Given the description of an element on the screen output the (x, y) to click on. 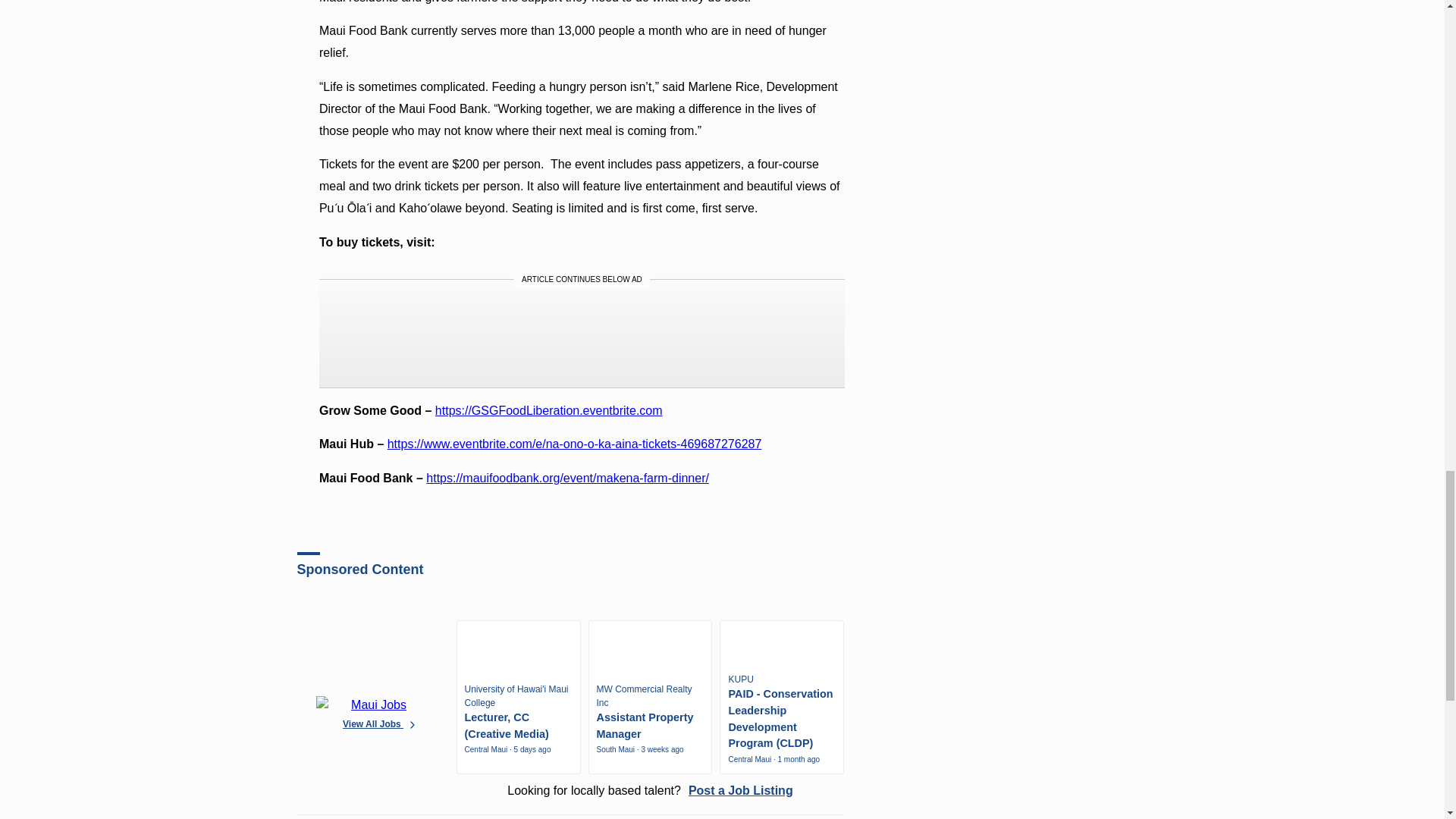
Chevron Forward (412, 724)
